Given the description of an element on the screen output the (x, y) to click on. 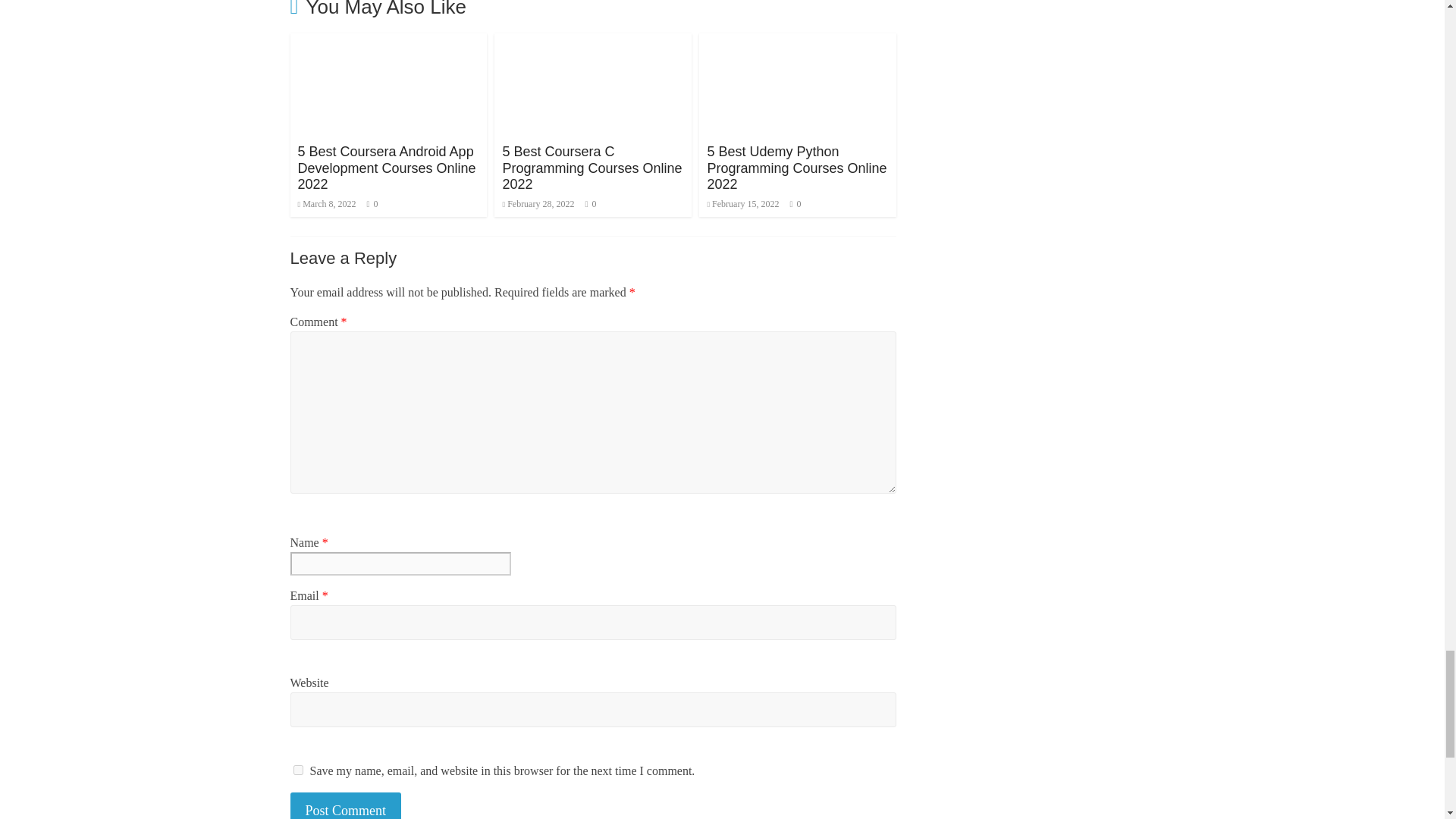
5 Best Coursera C Programming Courses  Online 2022 (593, 42)
yes (297, 769)
Post Comment (345, 805)
5 Best Udemy Python Programming Courses Online 2022 (796, 167)
12:21 PM (742, 204)
12:41 AM (326, 204)
5 Best Coursera Android App Development Courses Online 2022 (386, 167)
5 Best Coursera Android App Development Courses Online 2022 (387, 42)
5 Best Coursera C Programming Courses  Online 2022 (591, 167)
5 Best Udemy Python Programming Courses Online 2022 (797, 42)
12:24 PM (537, 204)
